Given the description of an element on the screen output the (x, y) to click on. 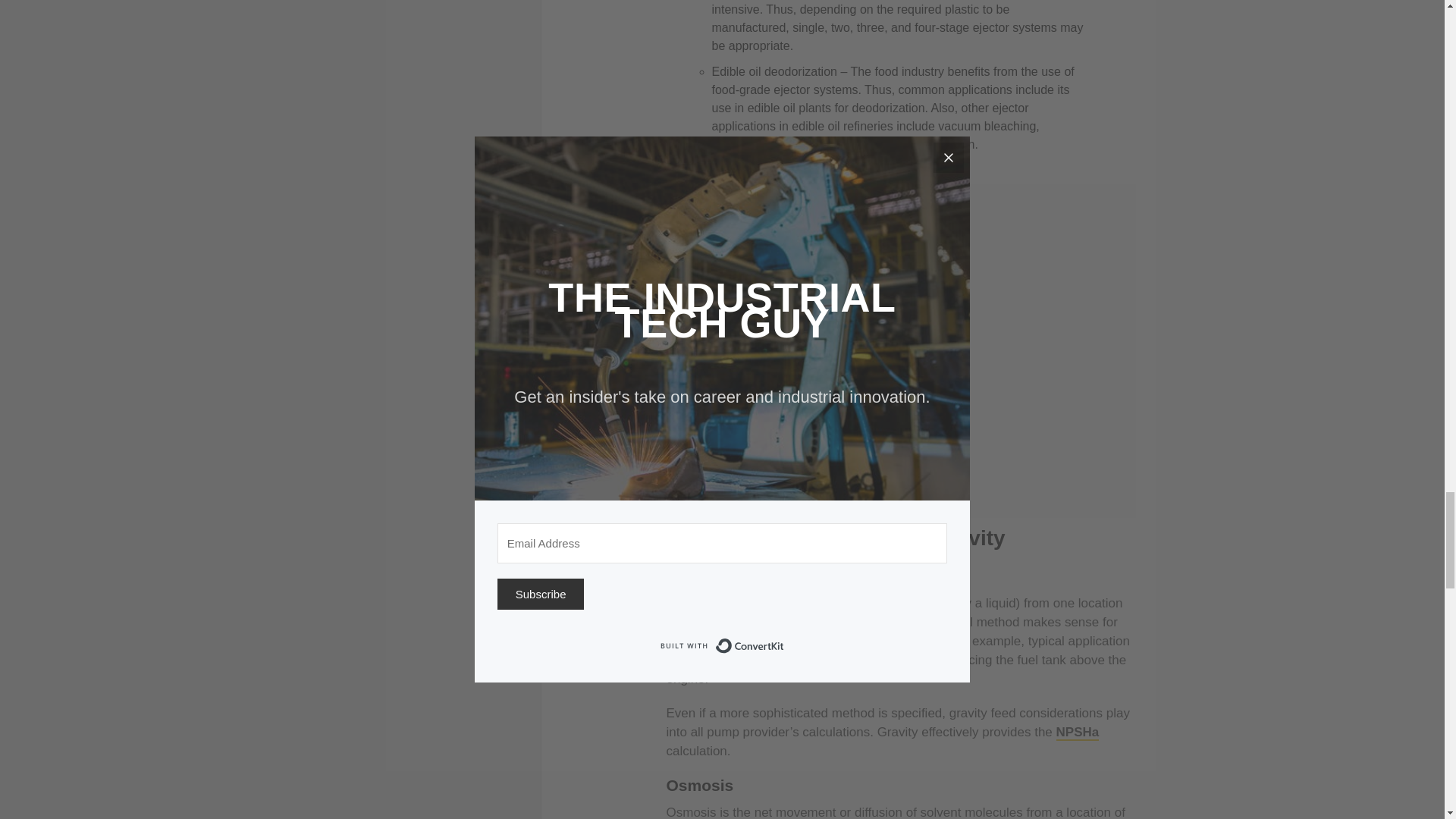
NPSHa (1078, 732)
